Given the description of an element on the screen output the (x, y) to click on. 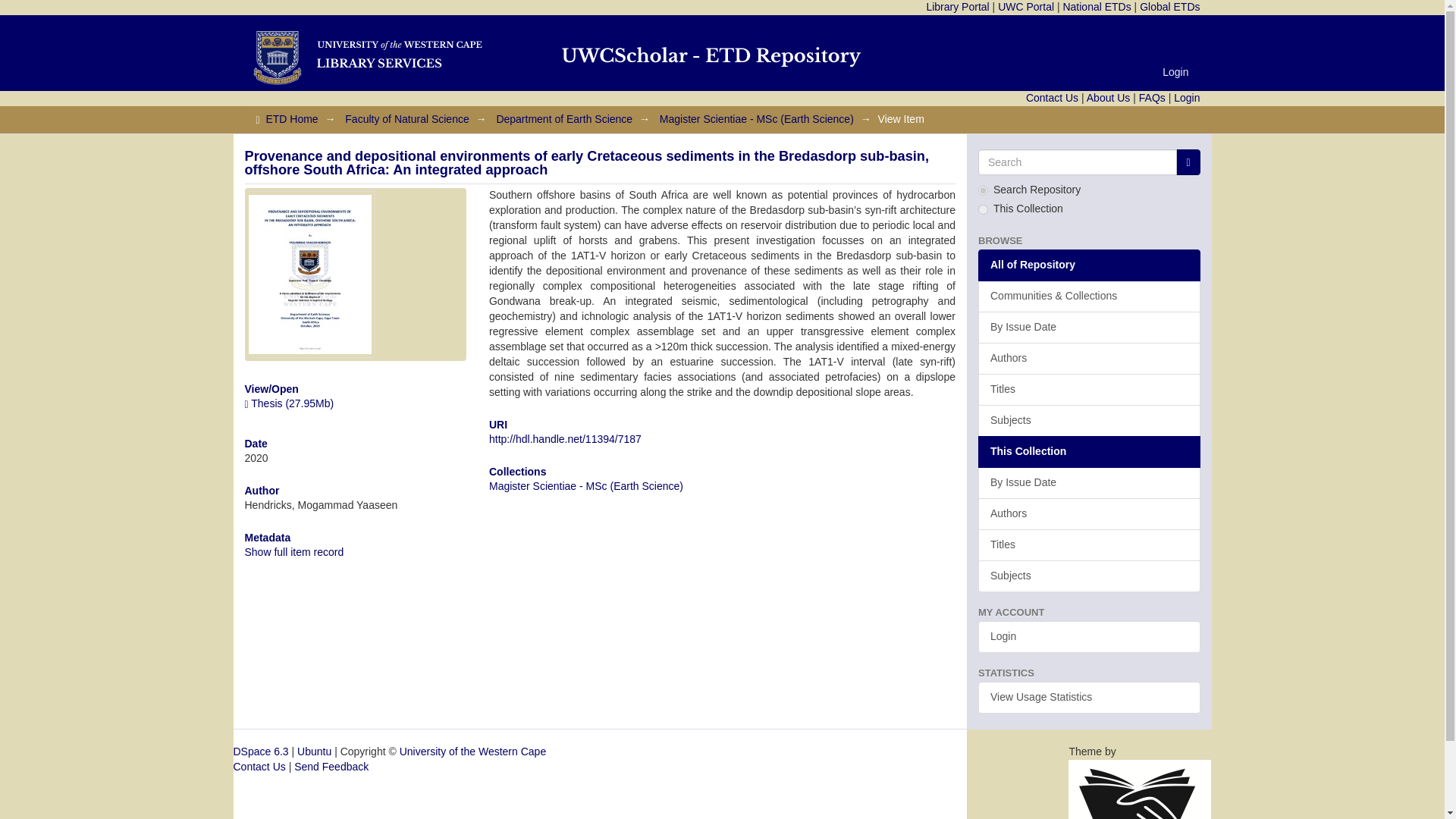
Authors (1088, 358)
Faculty of Natural Science (406, 119)
Library Portal (957, 6)
UWC Portal (1025, 6)
Global ETDs (1169, 6)
Show full item record (293, 551)
Login (1175, 71)
About Us (1108, 97)
All of Repository (1088, 265)
Login (1186, 97)
